Given the description of an element on the screen output the (x, y) to click on. 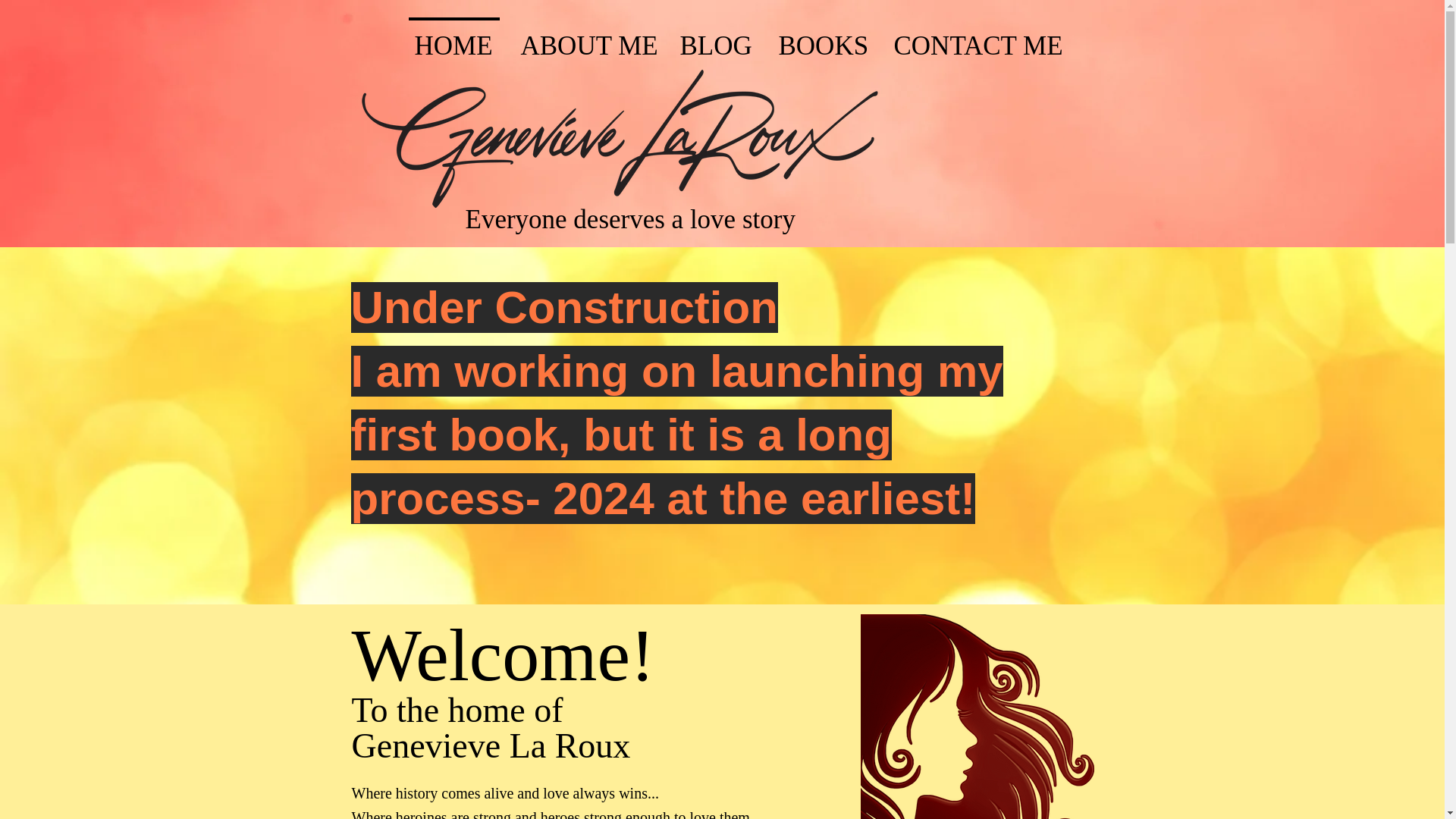
BOOKS (821, 38)
BLOG (714, 38)
CONTACT ME (977, 38)
HOME (453, 38)
ABOUT ME (585, 38)
